Given the description of an element on the screen output the (x, y) to click on. 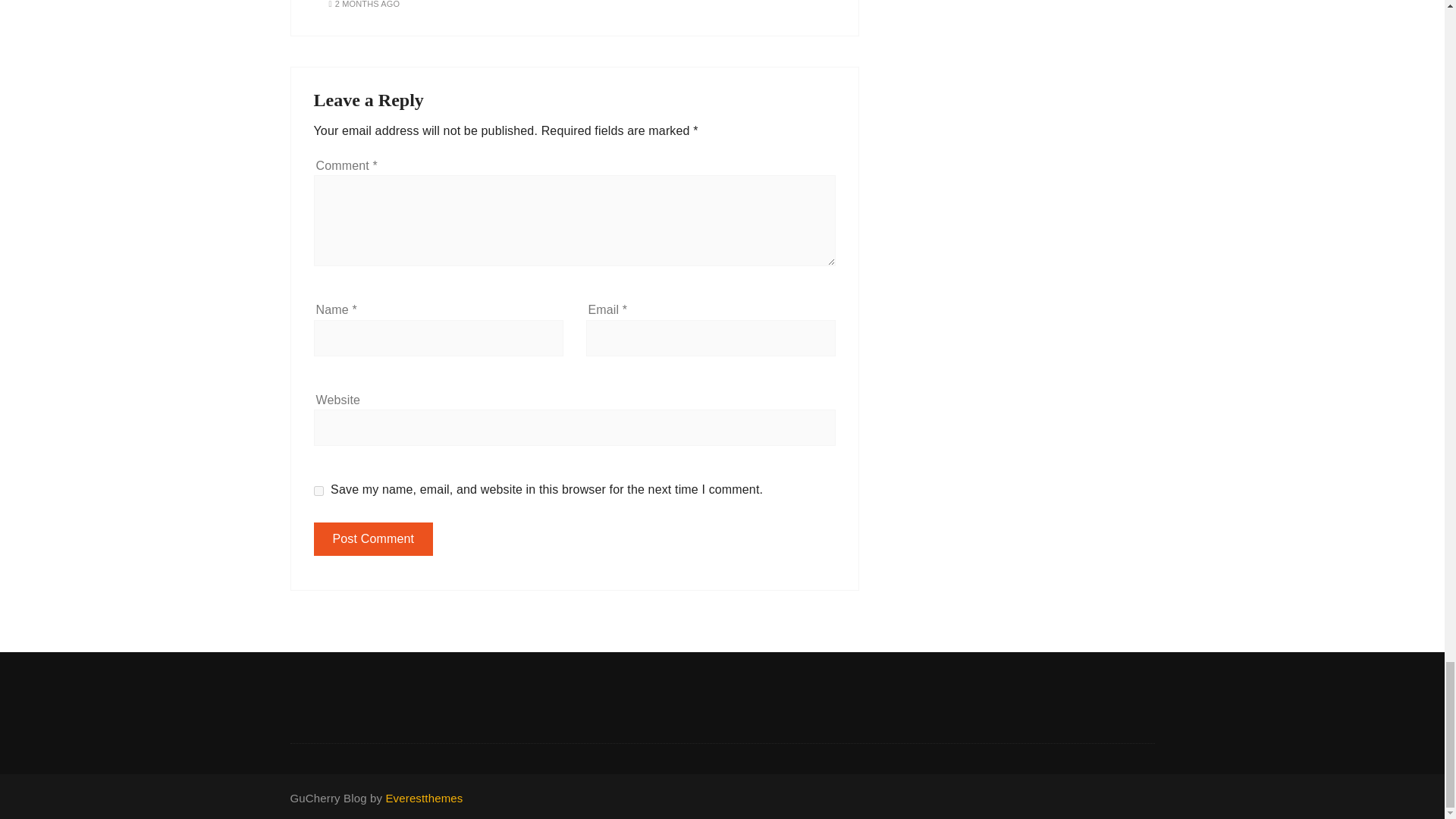
Everestthemes (424, 797)
Post Comment (373, 539)
Post Comment (373, 539)
yes (318, 491)
